Given the description of an element on the screen output the (x, y) to click on. 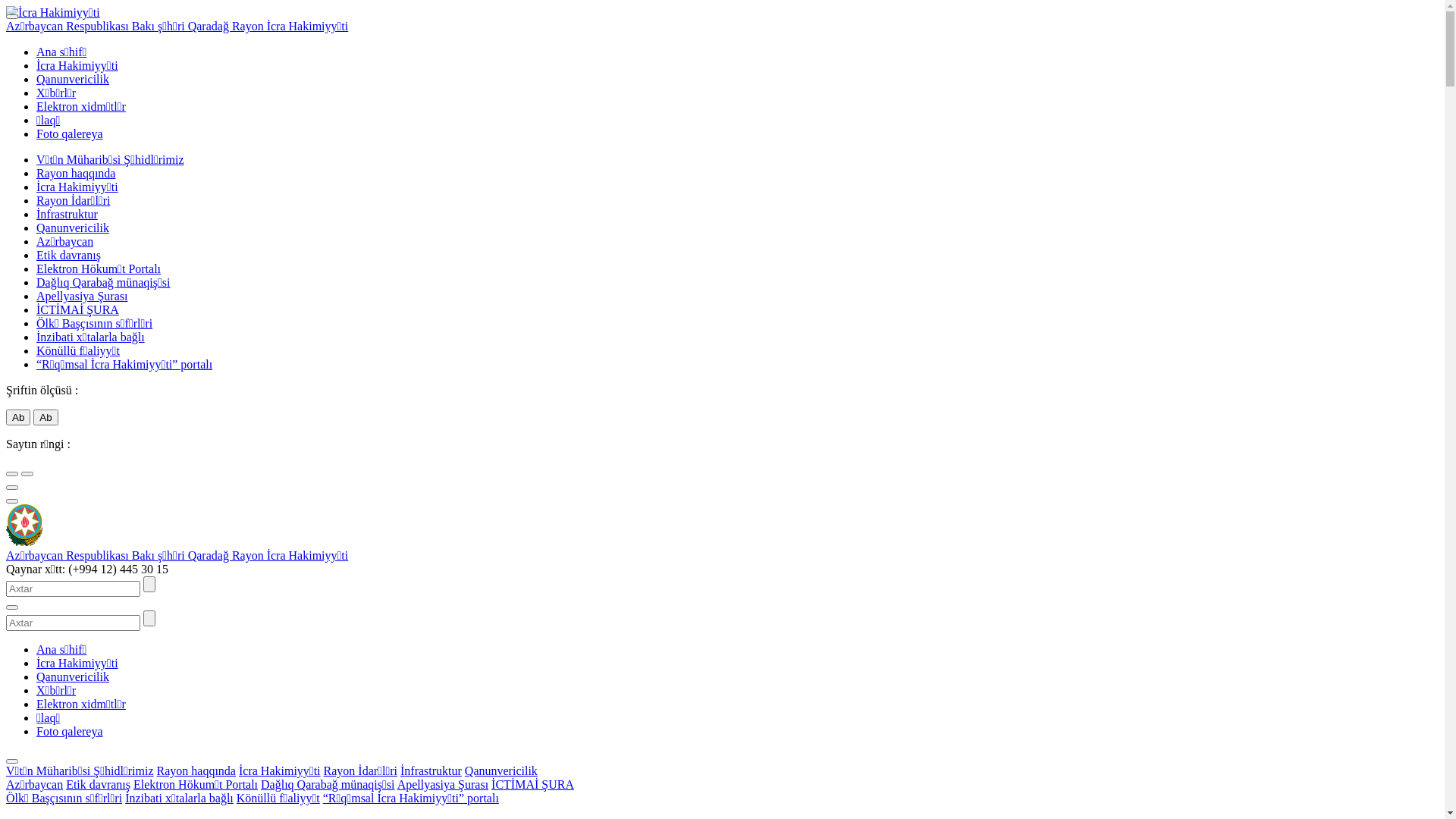
Qanunvericilik Element type: text (72, 78)
Ab Element type: text (18, 417)
Foto qalereya Element type: text (69, 730)
Qanunvericilik Element type: text (500, 770)
Ab Element type: text (45, 417)
Qanunvericilik Element type: text (72, 676)
Qanunvericilik Element type: text (72, 227)
Foto qalereya Element type: text (69, 133)
